Given the description of an element on the screen output the (x, y) to click on. 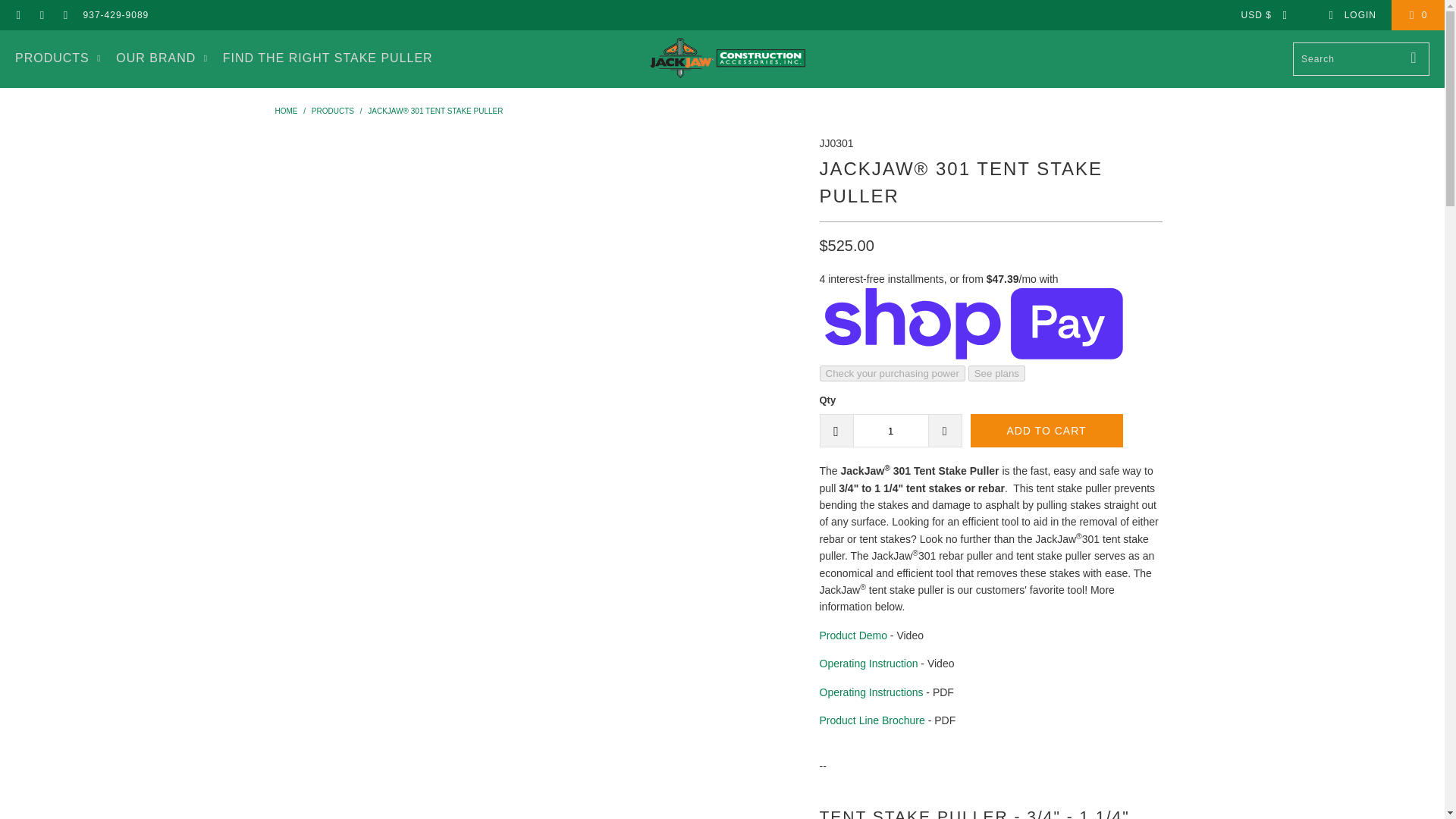
1 (889, 430)
My Account  (1351, 15)
Construction Accessories Inc. on Facebook (17, 14)
Construction Accessories Inc. (286, 111)
Products (332, 111)
Construction Accessories Inc. on YouTube (41, 14)
Construction Accessories Inc. on Instagram (64, 14)
Construction Accessories Inc. (727, 58)
